Given the description of an element on the screen output the (x, y) to click on. 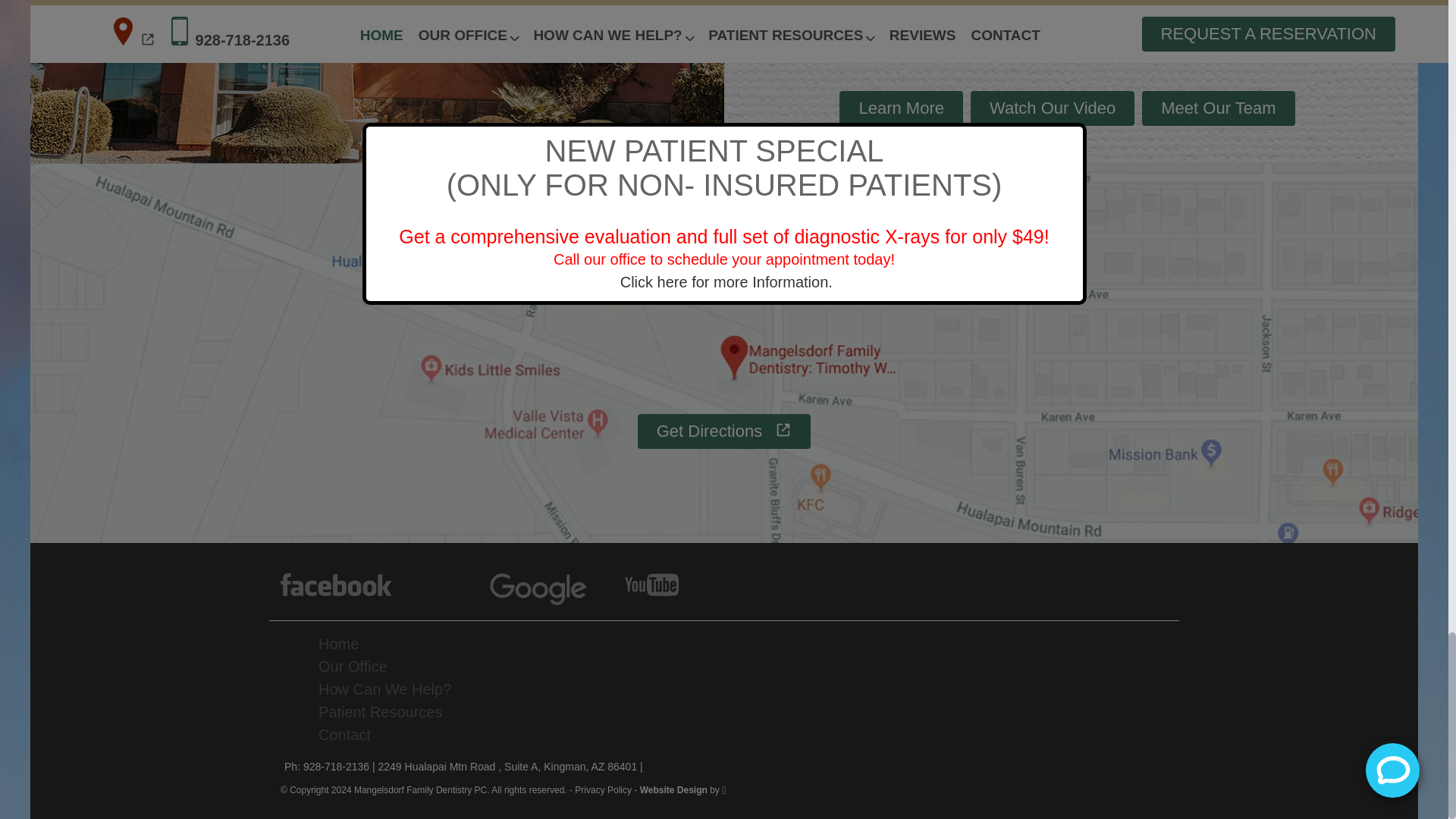
Facebook icon (336, 584)
YouTube icon (651, 584)
Google icon (537, 589)
